Given the description of an element on the screen output the (x, y) to click on. 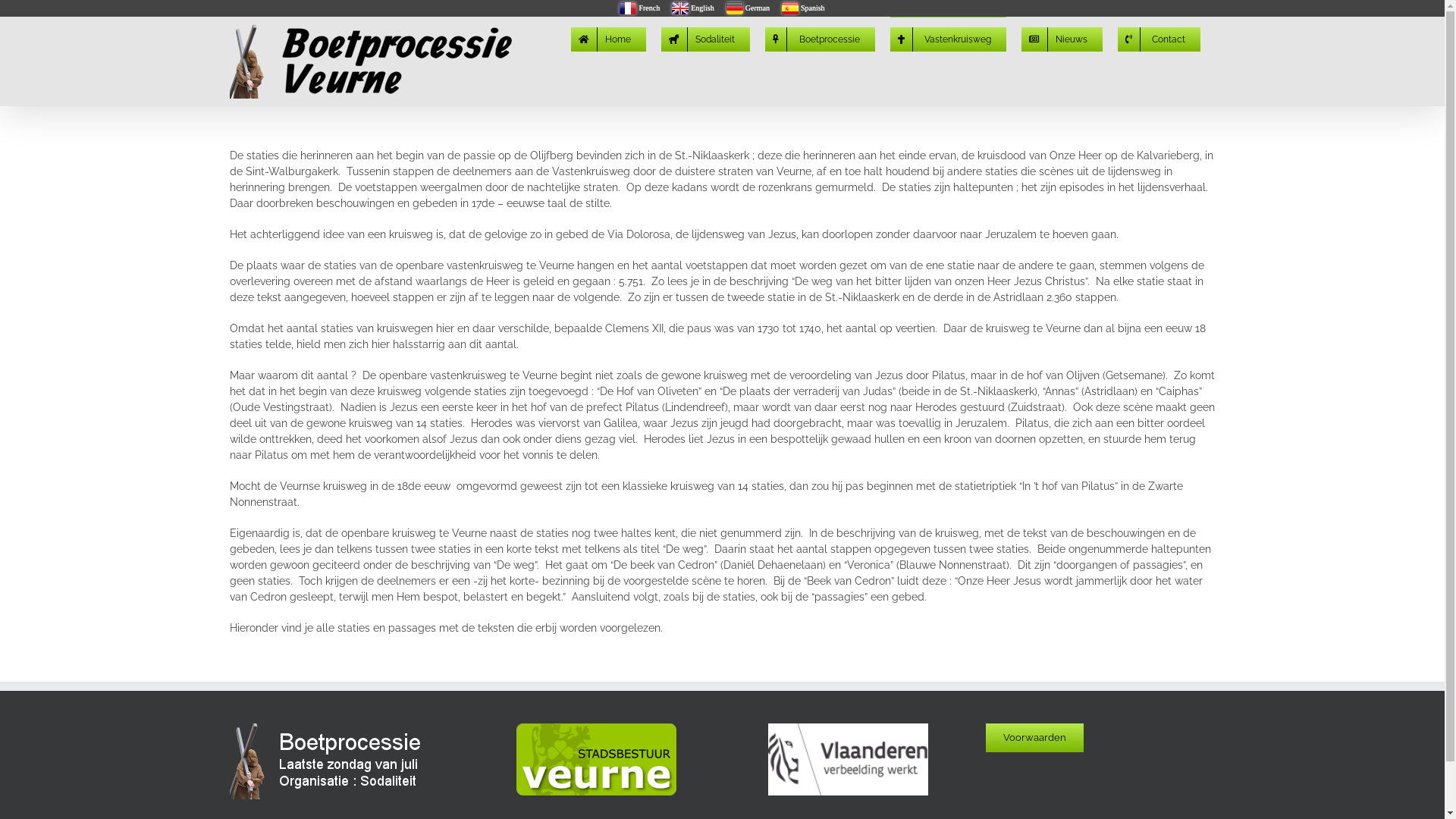
English Element type: text (692, 8)
Contact Element type: text (1158, 37)
Vastenkruisweg Element type: text (948, 37)
Home Element type: text (607, 37)
Sodaliteit Element type: text (705, 37)
Nieuws Element type: text (1060, 37)
Voorwaarden Element type: text (1034, 737)
French Element type: text (639, 8)
Spanish Element type: text (803, 8)
Boetprocessie Element type: text (819, 37)
German Element type: text (747, 8)
